Given the description of an element on the screen output the (x, y) to click on. 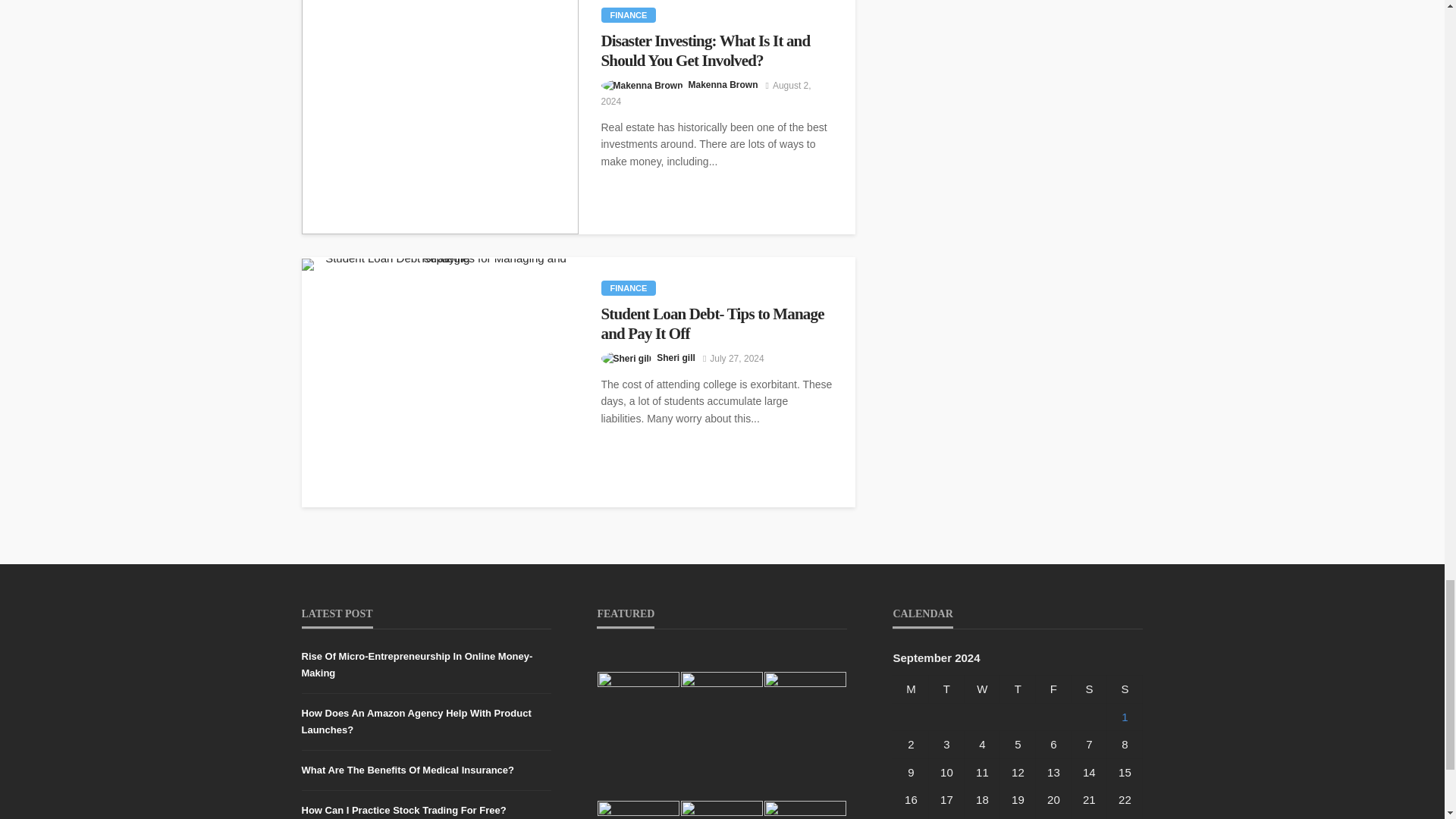
Disaster Investing: What Is It and Should You Get Involved? (715, 51)
Disaster Investing: What Is It and Should You Get Involved? (439, 117)
Finance (627, 14)
Disaster Investing: What Is It and Should You Get Involved? (715, 51)
FINANCE (627, 14)
Finance (627, 287)
Student Loan Debt- Tips to Manage and Pay It Off (439, 264)
